Given the description of an element on the screen output the (x, y) to click on. 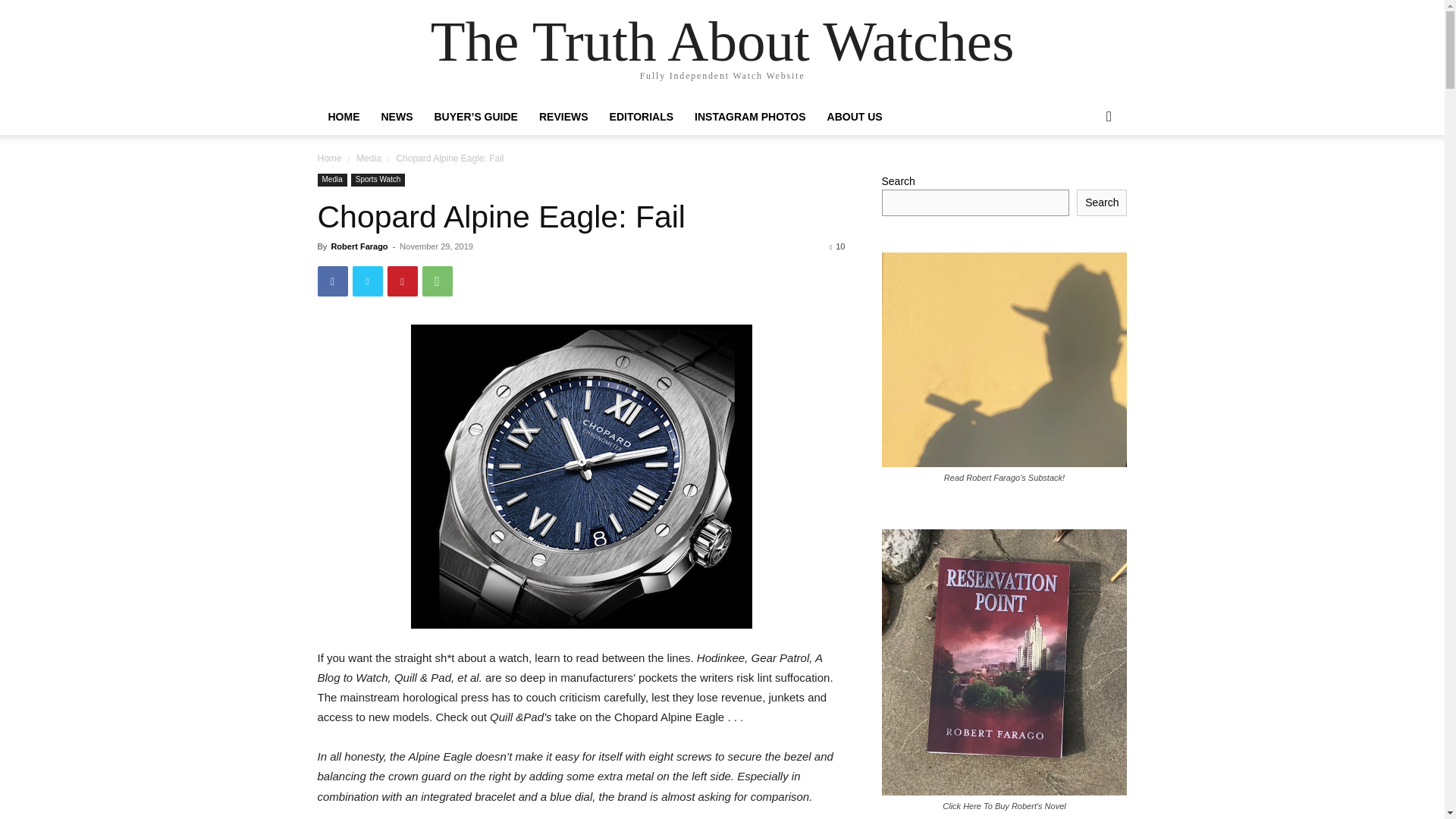
Home (328, 158)
Media (368, 158)
Robert Farago (358, 245)
REVIEWS (563, 116)
Search (1085, 177)
WhatsApp (436, 281)
EDITORIALS (641, 116)
NEWS (396, 116)
The Truth About Watches (722, 41)
10 (837, 245)
Pinterest (401, 281)
View all posts in Media (368, 158)
Twitter (366, 281)
Facebook (332, 281)
HOME (343, 116)
